Given the description of an element on the screen output the (x, y) to click on. 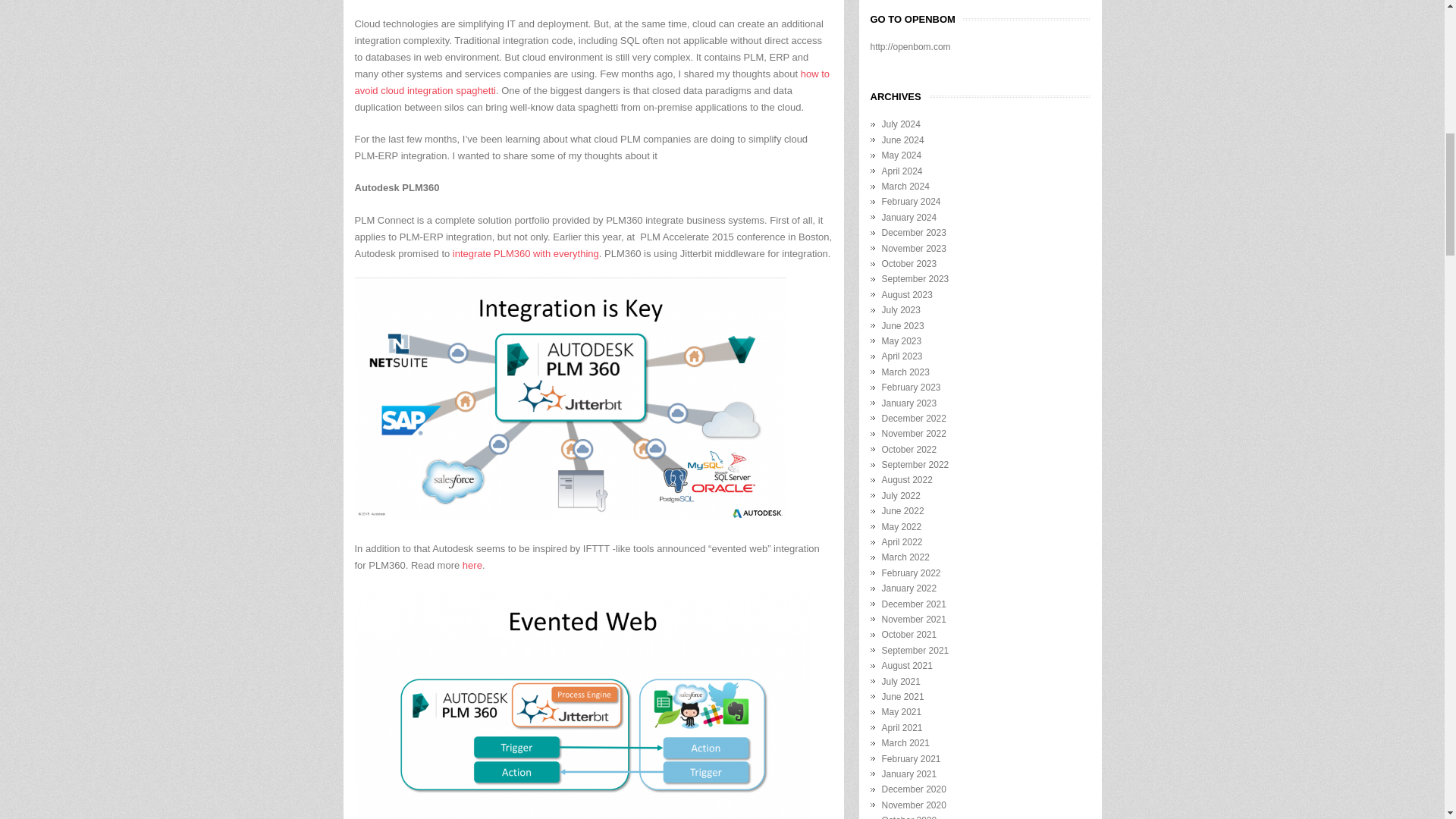
how to avoid cloud integration spaghetti (592, 81)
integrate PLM360 with everything (525, 253)
here (472, 564)
